Given the description of an element on the screen output the (x, y) to click on. 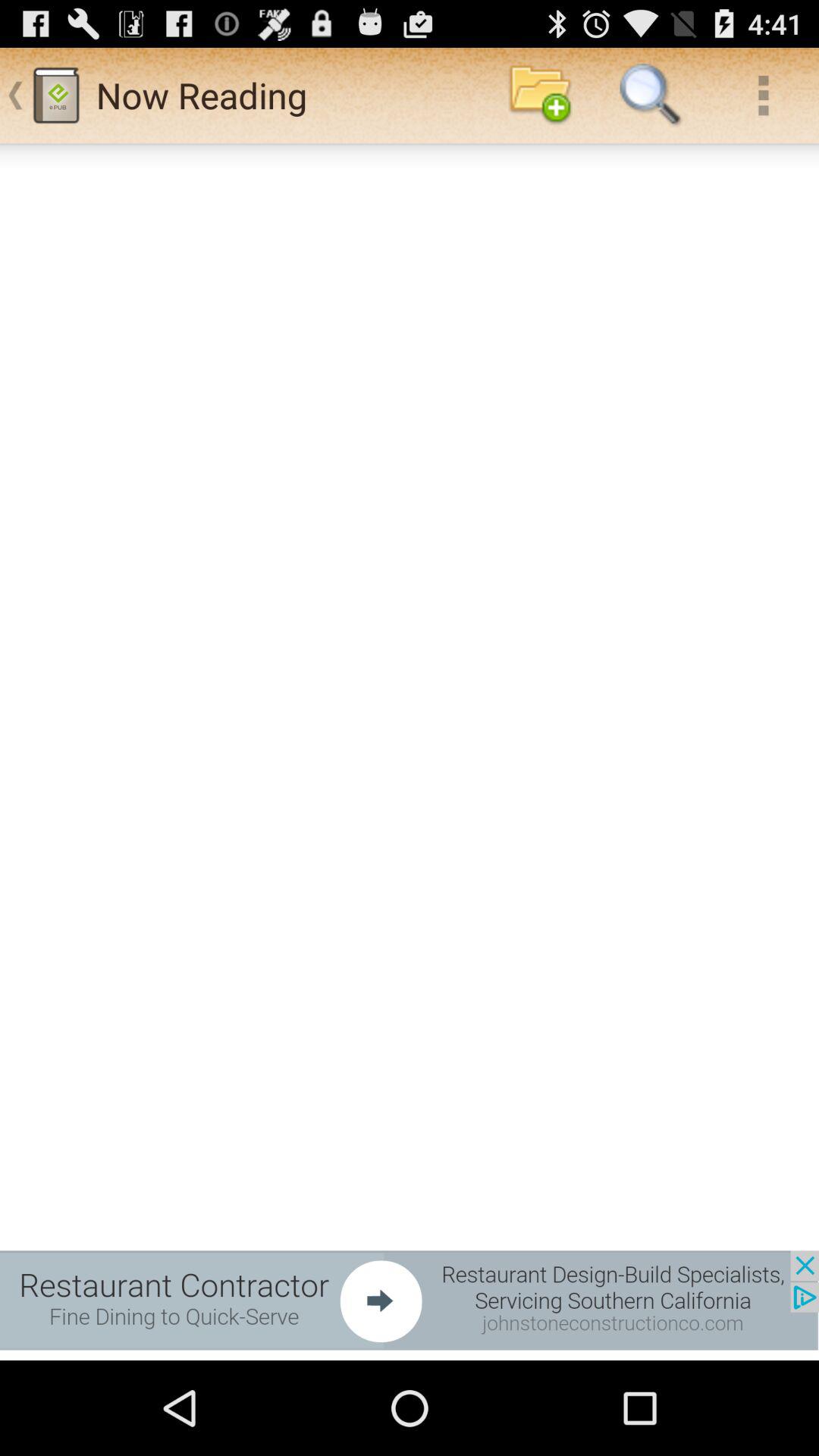
add banner (409, 1300)
